Given the description of an element on the screen output the (x, y) to click on. 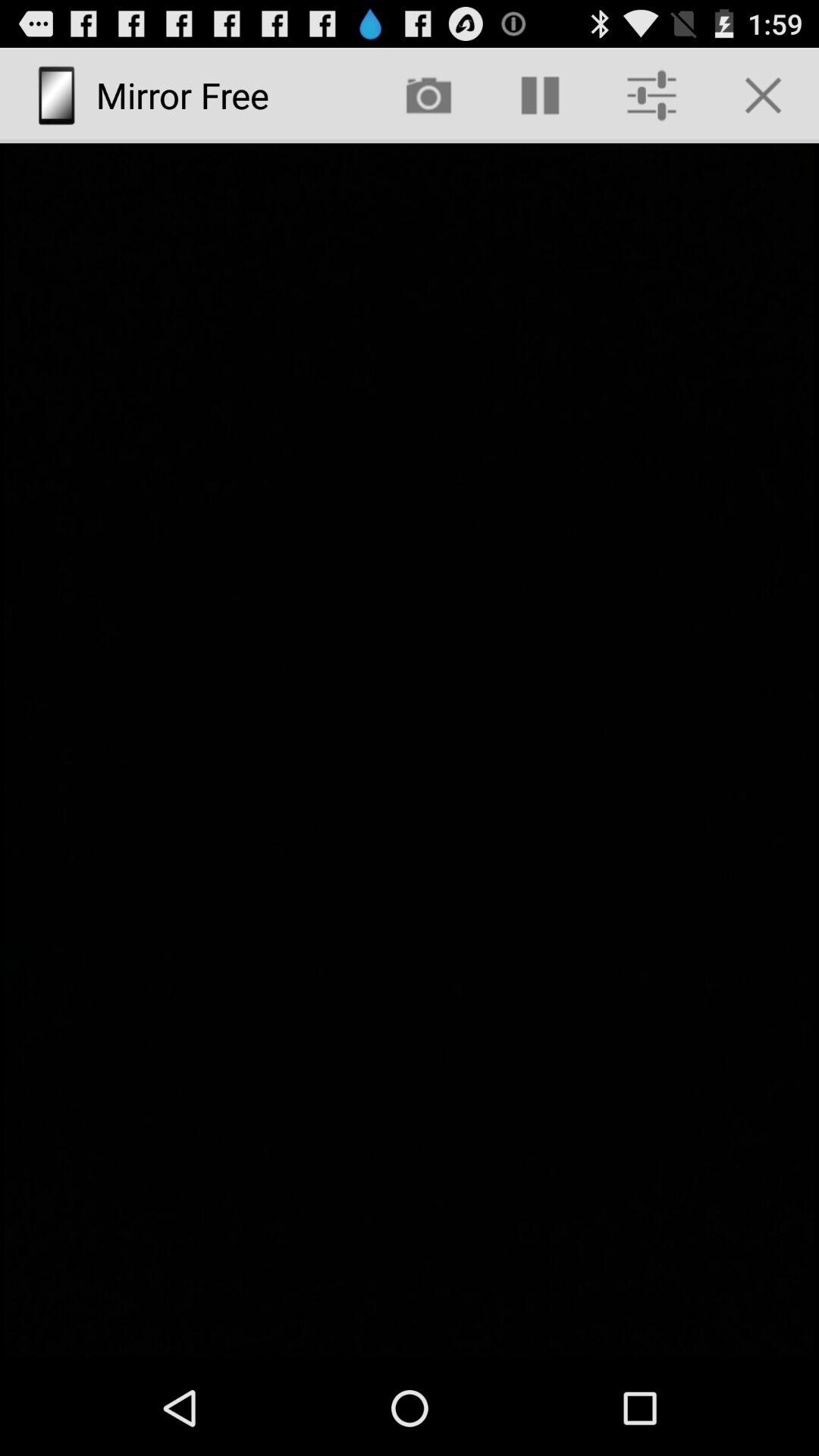
select the app to the right of mirror free app (428, 95)
